Given the description of an element on the screen output the (x, y) to click on. 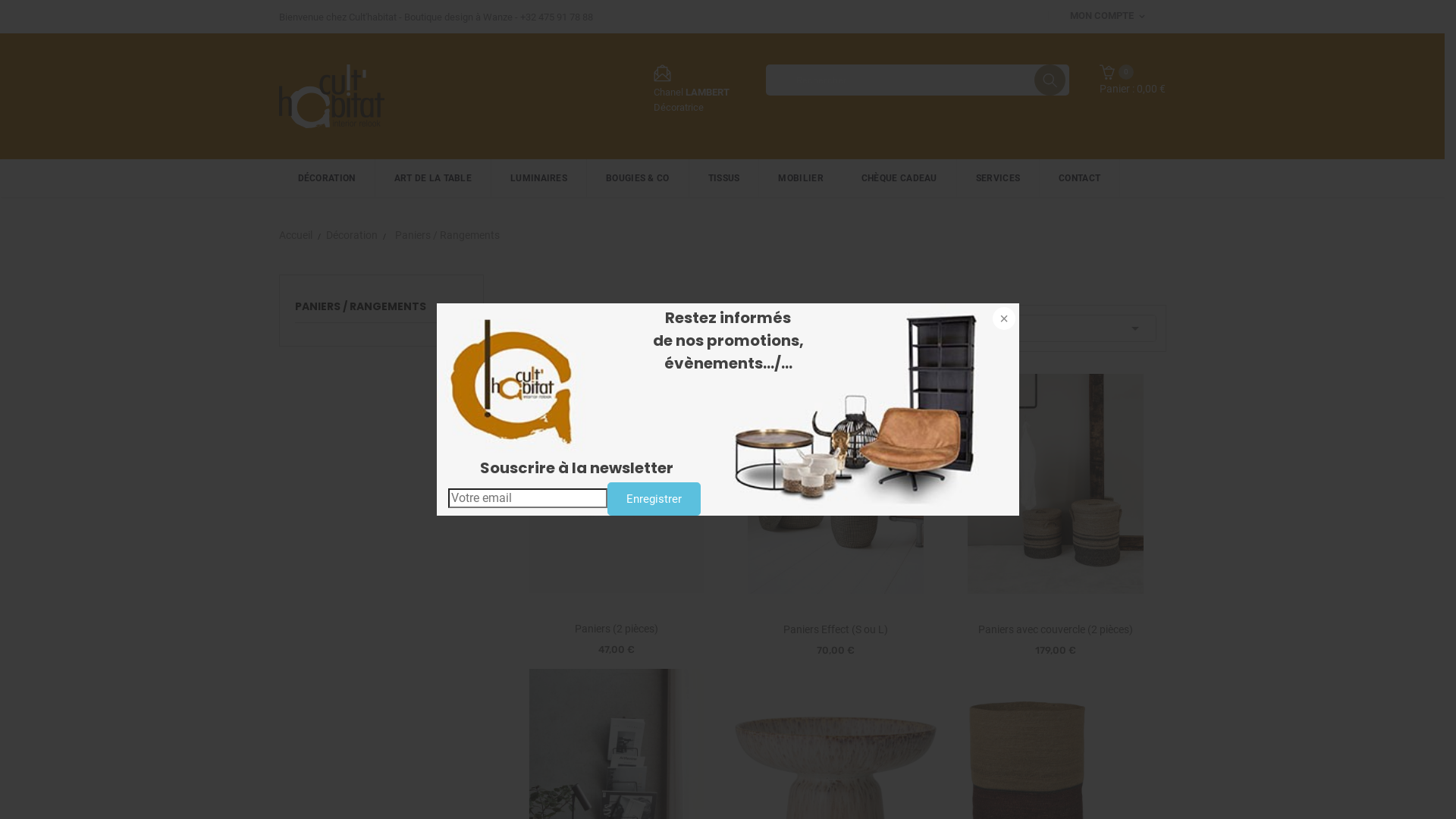
Accueil Element type: text (295, 234)
Paniers Effect (S ou L) Element type: text (835, 629)
PANIERS / RANGEMENTS Element type: text (380, 310)
ART DE LA TABLE Element type: text (432, 178)
LUMINAIRES Element type: text (538, 178)
Close Element type: hover (1002, 319)
SERVICES Element type: text (998, 178)
Paniers / Rangements Element type: text (447, 234)
Enregistrer Element type: text (653, 499)
MOBILIER Element type: text (800, 178)
CONTACT Element type: text (1079, 178)
TISSUS Element type: text (724, 178)
BOUGIES & CO Element type: text (637, 178)
